Given the description of an element on the screen output the (x, y) to click on. 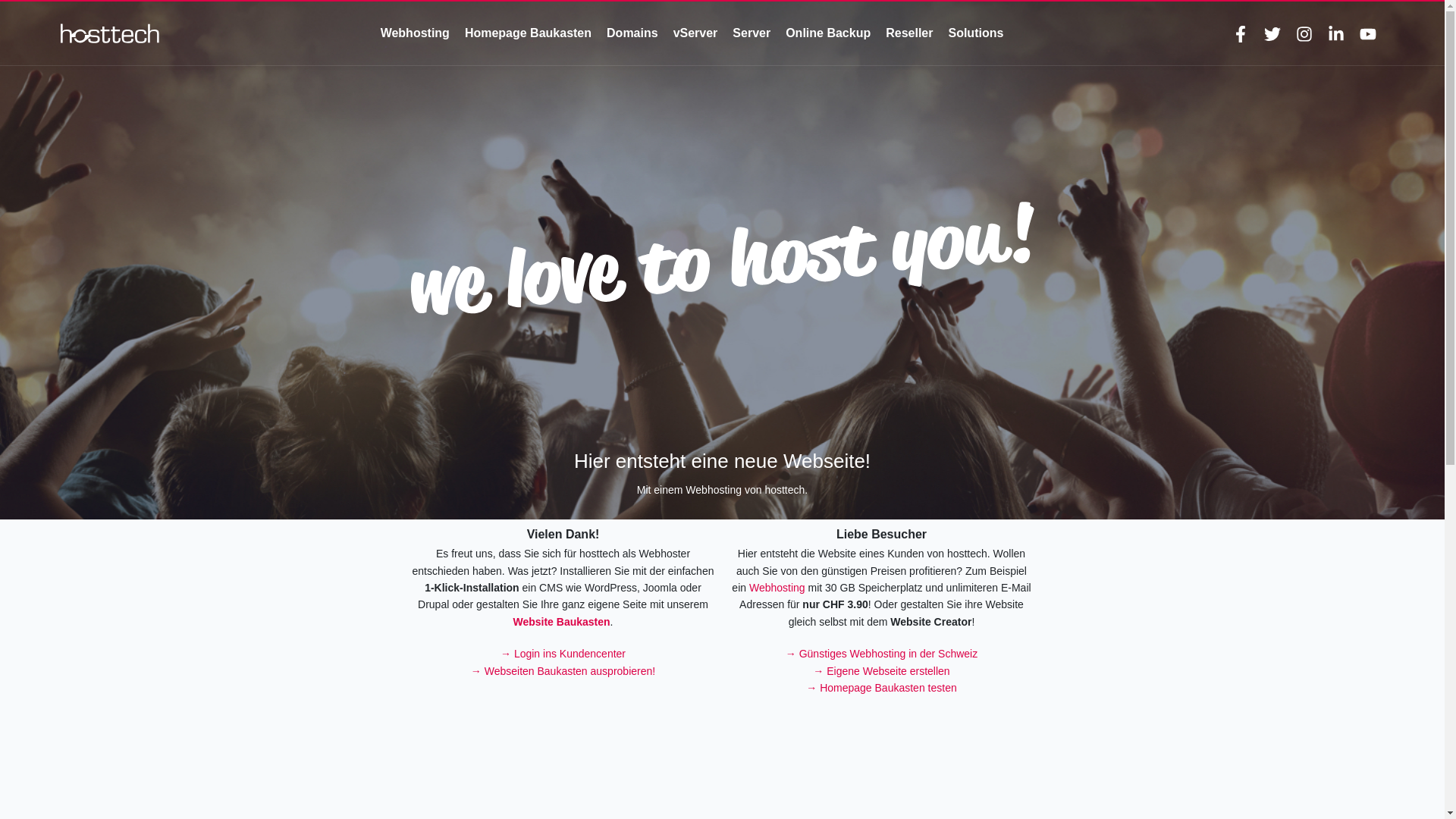
Solutions Element type: text (975, 32)
Webhosting Element type: text (777, 587)
Domains Element type: text (632, 32)
vServer Element type: text (695, 32)
Webhosting Element type: text (414, 32)
Online Backup Element type: text (827, 32)
Homepage Baukasten Element type: text (527, 32)
Website Baukasten Element type: text (560, 621)
Server Element type: text (751, 32)
Reseller Element type: text (908, 32)
